Given the description of an element on the screen output the (x, y) to click on. 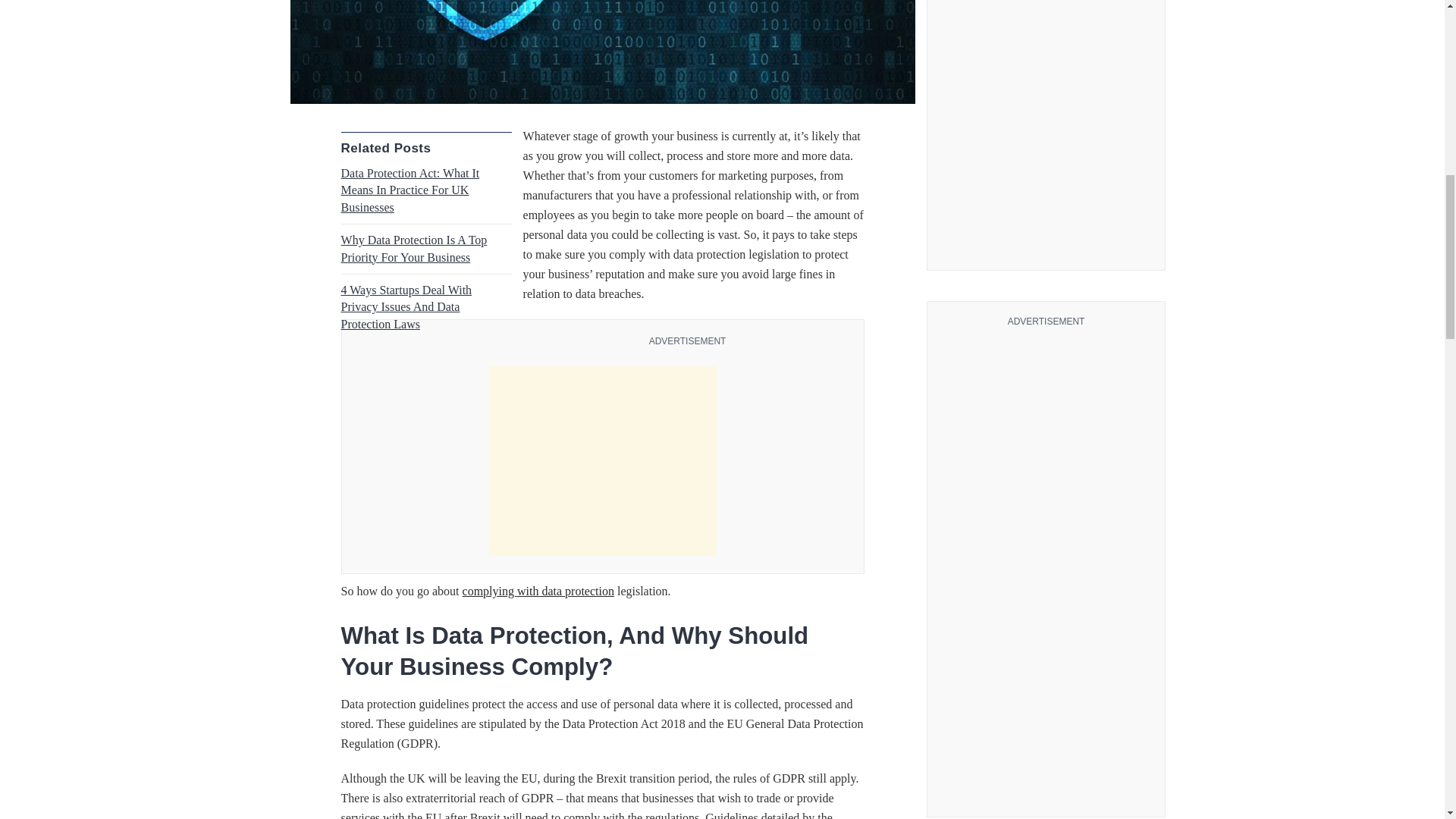
complying with data protection (538, 590)
Why Data Protection Is A Top Priority For Your Business (413, 247)
